Given the description of an element on the screen output the (x, y) to click on. 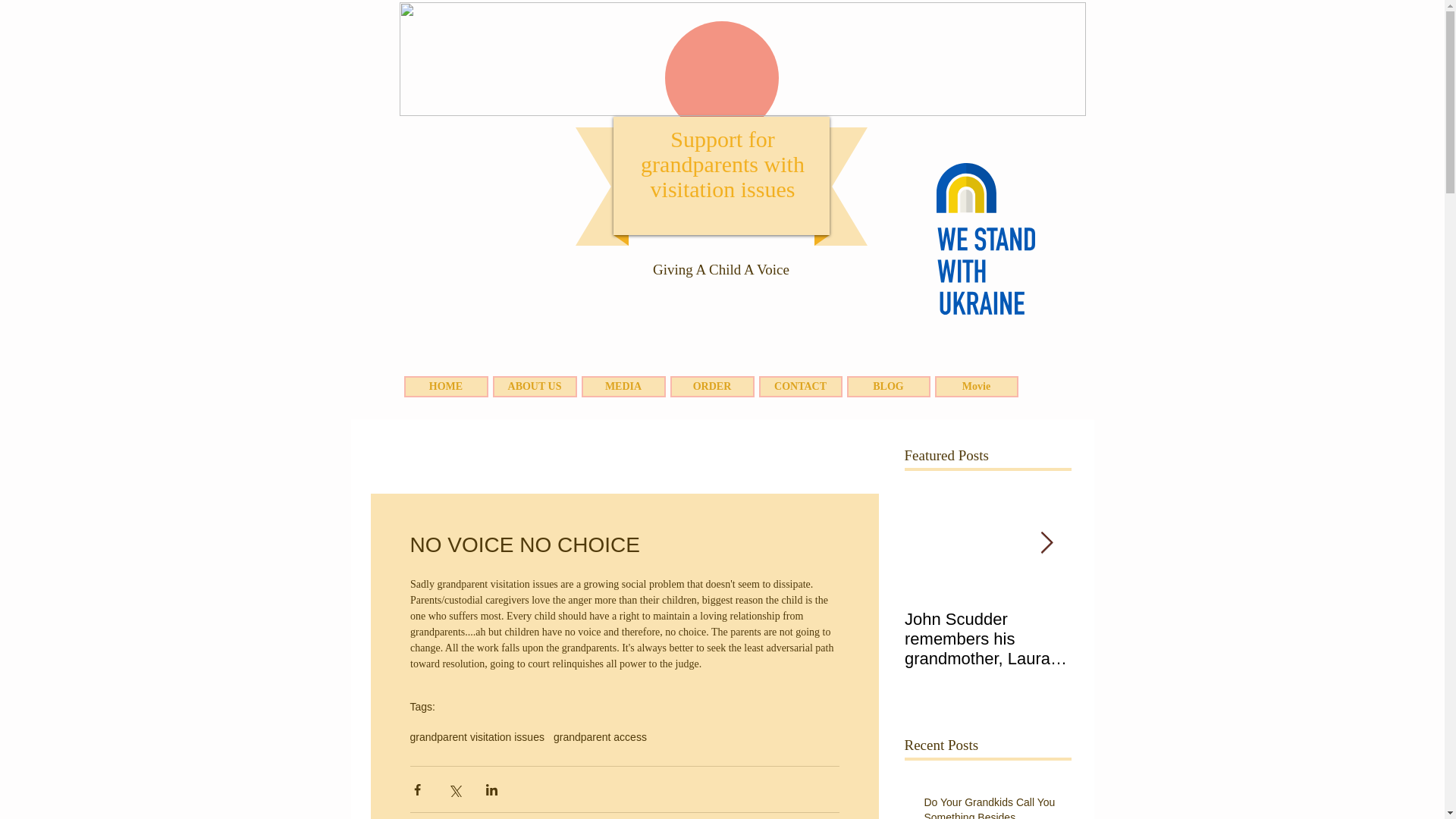
Attorney Sheryl Edgar talks about grandparent rights (1153, 639)
Picture 1.png (741, 59)
ABOUT US (534, 386)
MEDIA (622, 386)
HOME (445, 386)
BLOG (887, 386)
ORDER (711, 386)
grandparent visitation issues (476, 736)
grandparent access (599, 736)
